Given the description of an element on the screen output the (x, y) to click on. 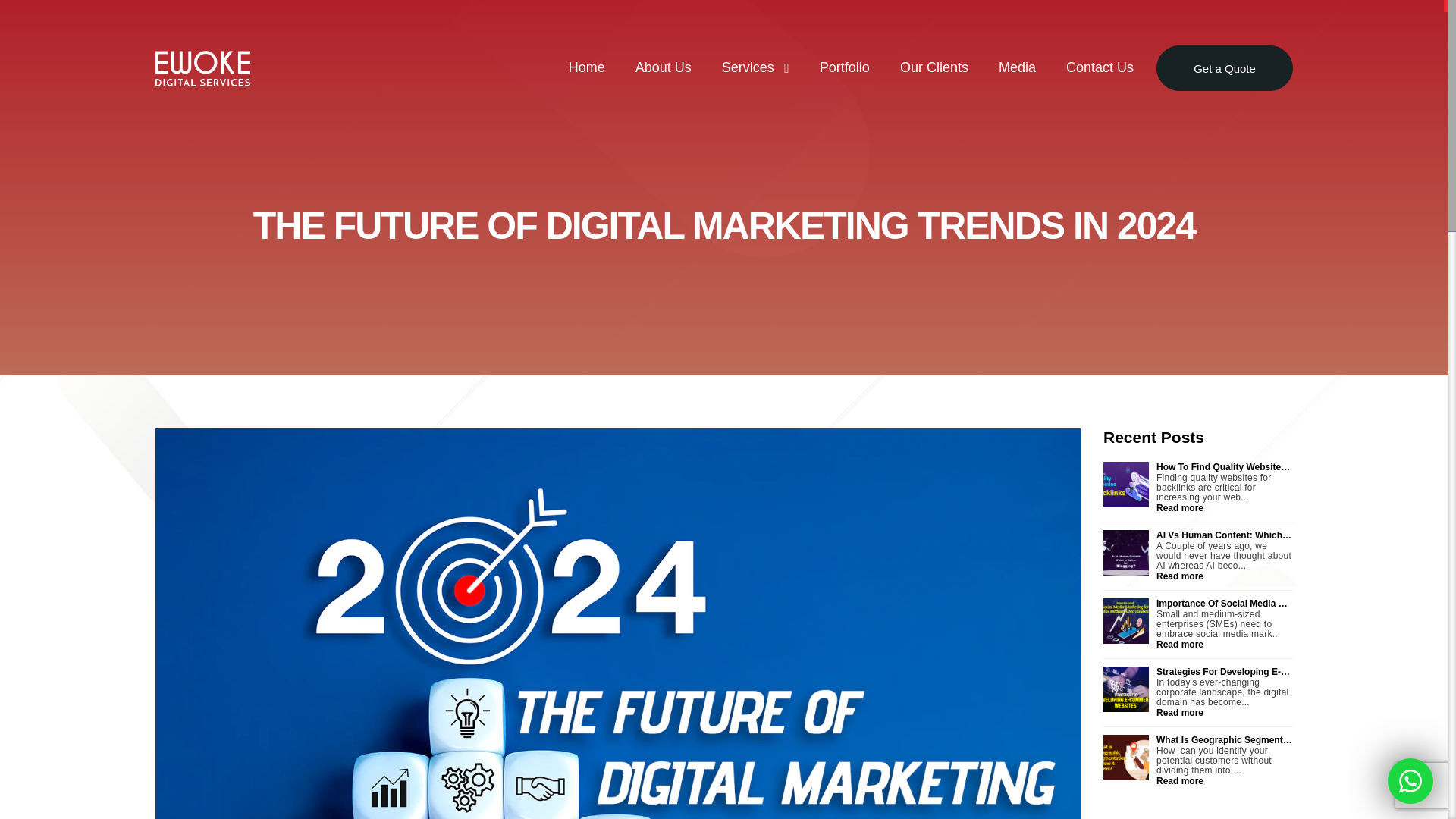
Strategies For Developing E-Commerce Websites (1224, 672)
Read more (1224, 644)
Portfolio (844, 67)
Services (755, 67)
Read more (1224, 508)
AI Vs Human Content: Which Is Better For Blogging (1224, 535)
Contact Us (1099, 67)
Media (1016, 67)
Our Clients (933, 67)
